Given the description of an element on the screen output the (x, y) to click on. 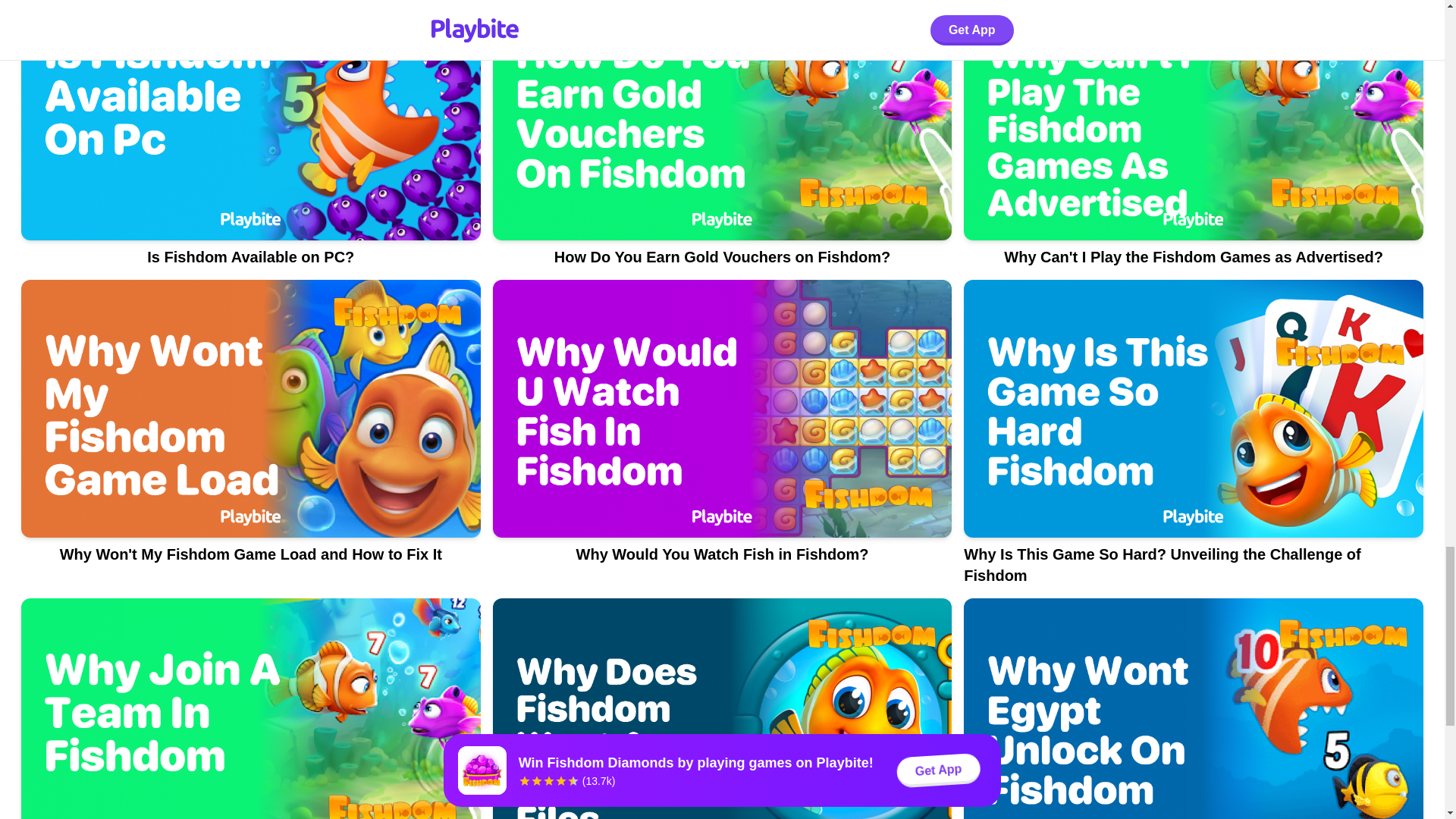
Why Can't I Play the Fishdom Games as Advertised? (1193, 140)
How Do You Earn Gold Vouchers on Fishdom? (722, 140)
Why Won't Egypt Unlock on Fishdom? (1193, 708)
Is Fishdom Available on PC? (250, 140)
Why Does Fishdom Want Access to Media Files on Your Device? (722, 708)
